Given the description of an element on the screen output the (x, y) to click on. 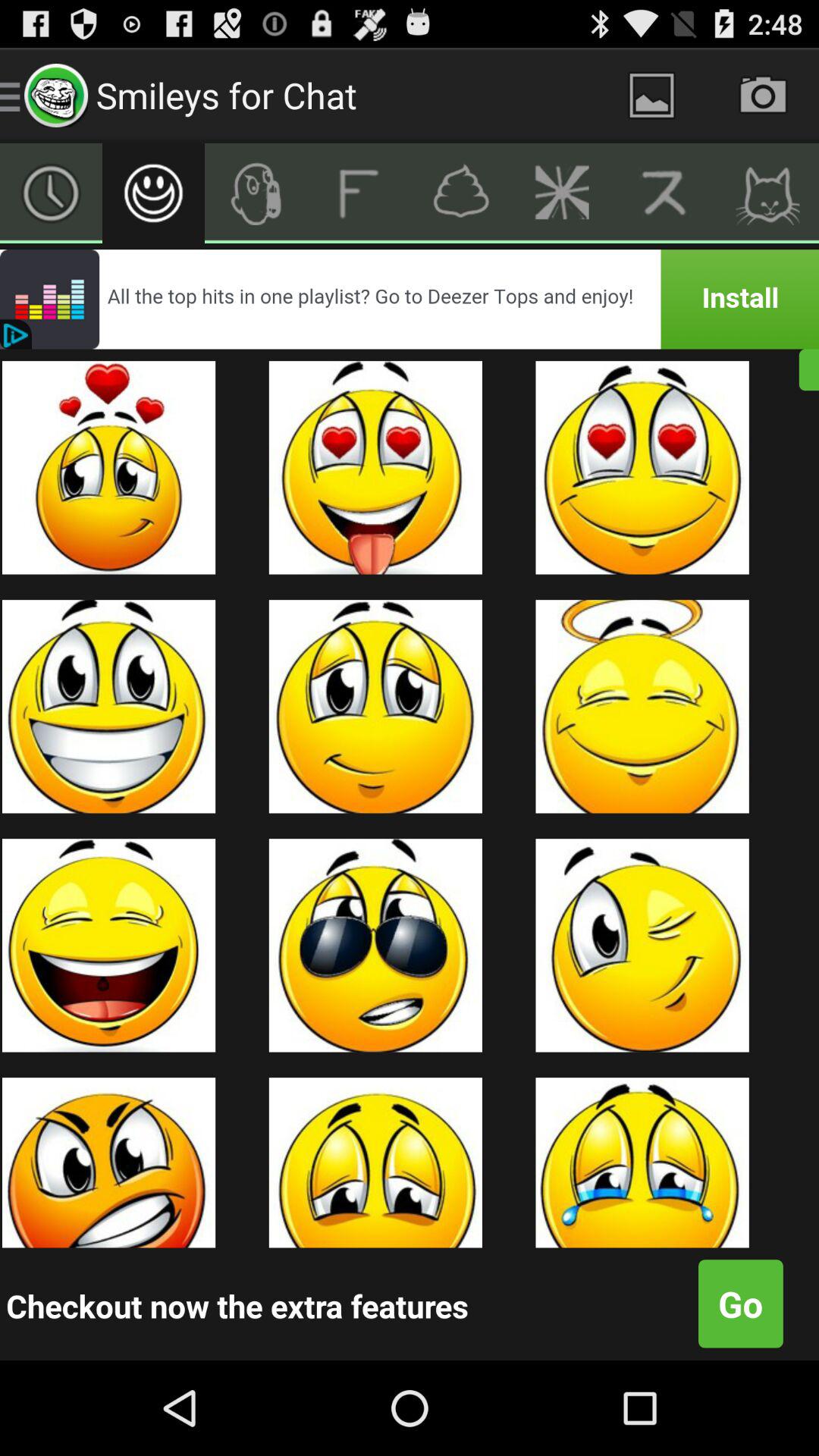
open cat emojs (767, 193)
